Given the description of an element on the screen output the (x, y) to click on. 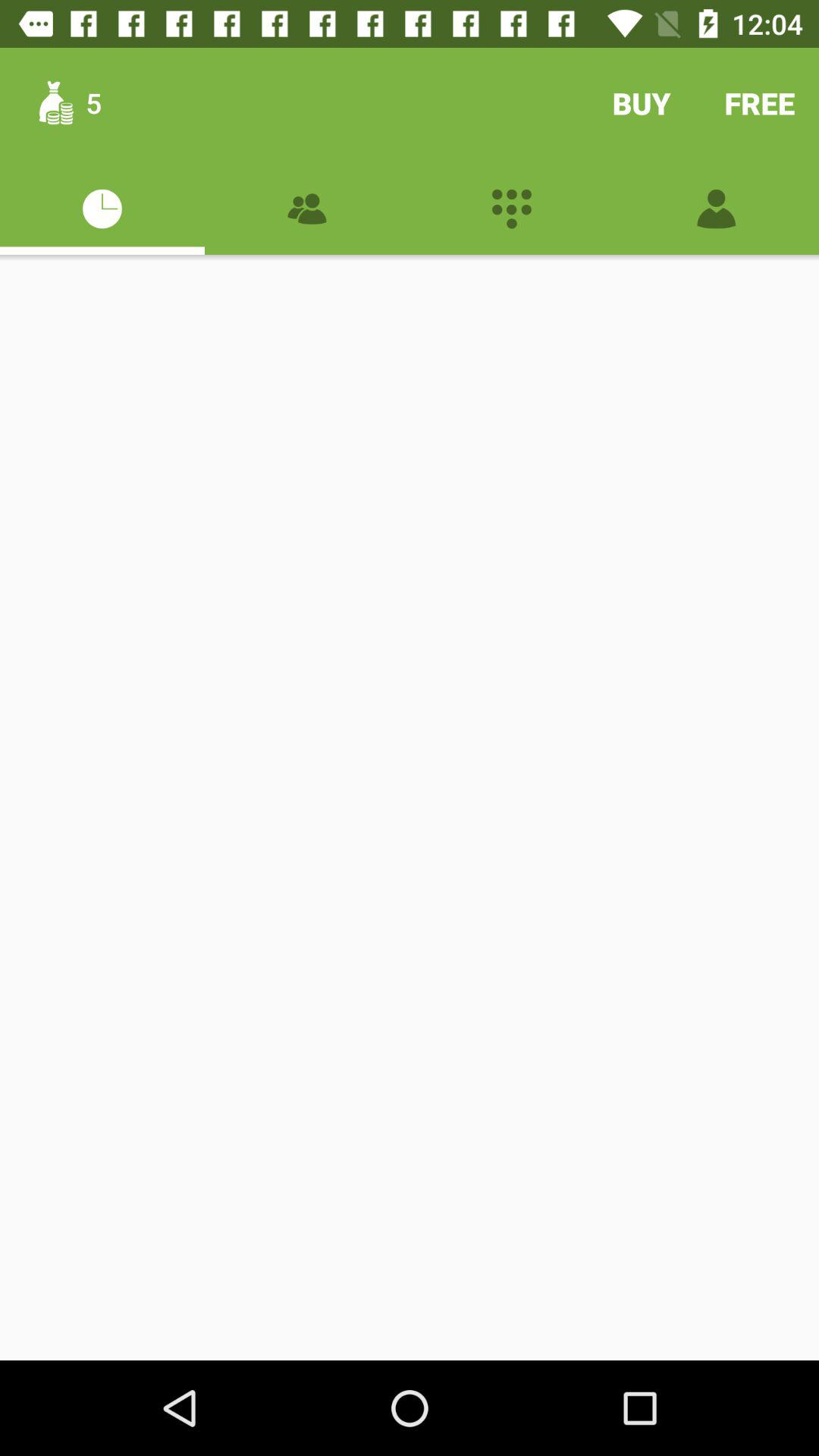
jump to free (759, 103)
